Given the description of an element on the screen output the (x, y) to click on. 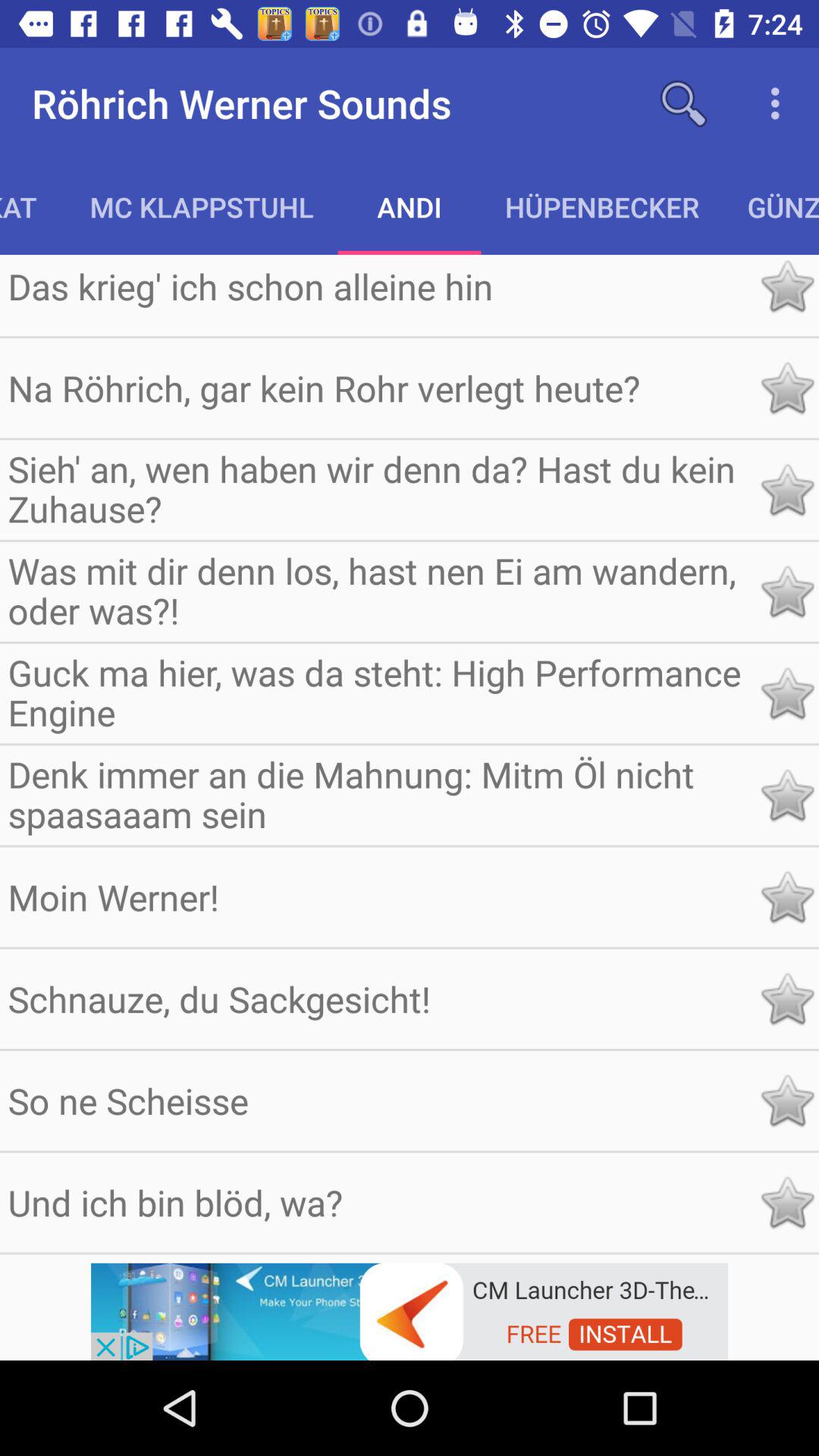
add to favorites (787, 591)
